Given the description of an element on the screen output the (x, y) to click on. 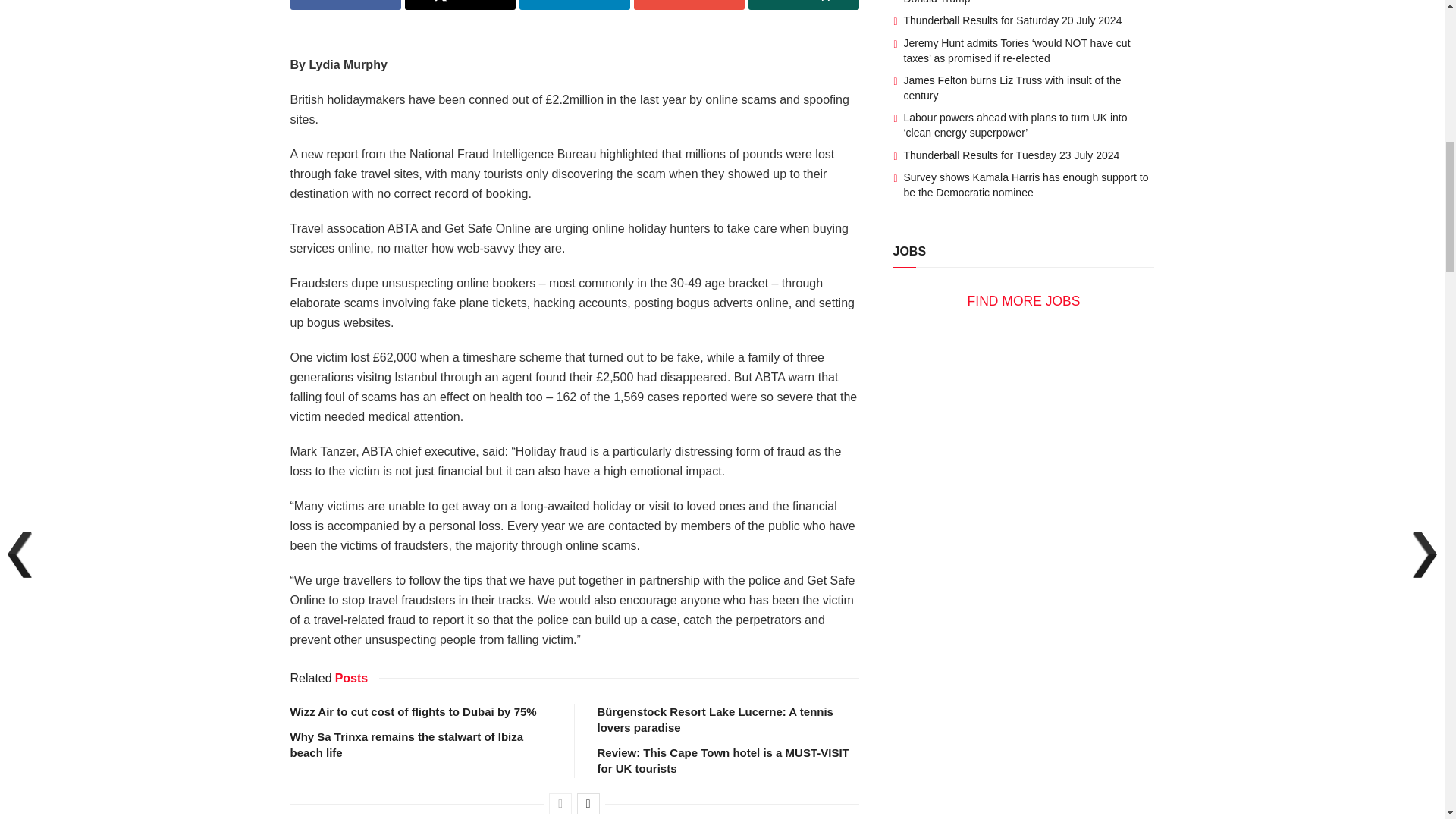
Next (587, 803)
Previous (560, 803)
